Given the description of an element on the screen output the (x, y) to click on. 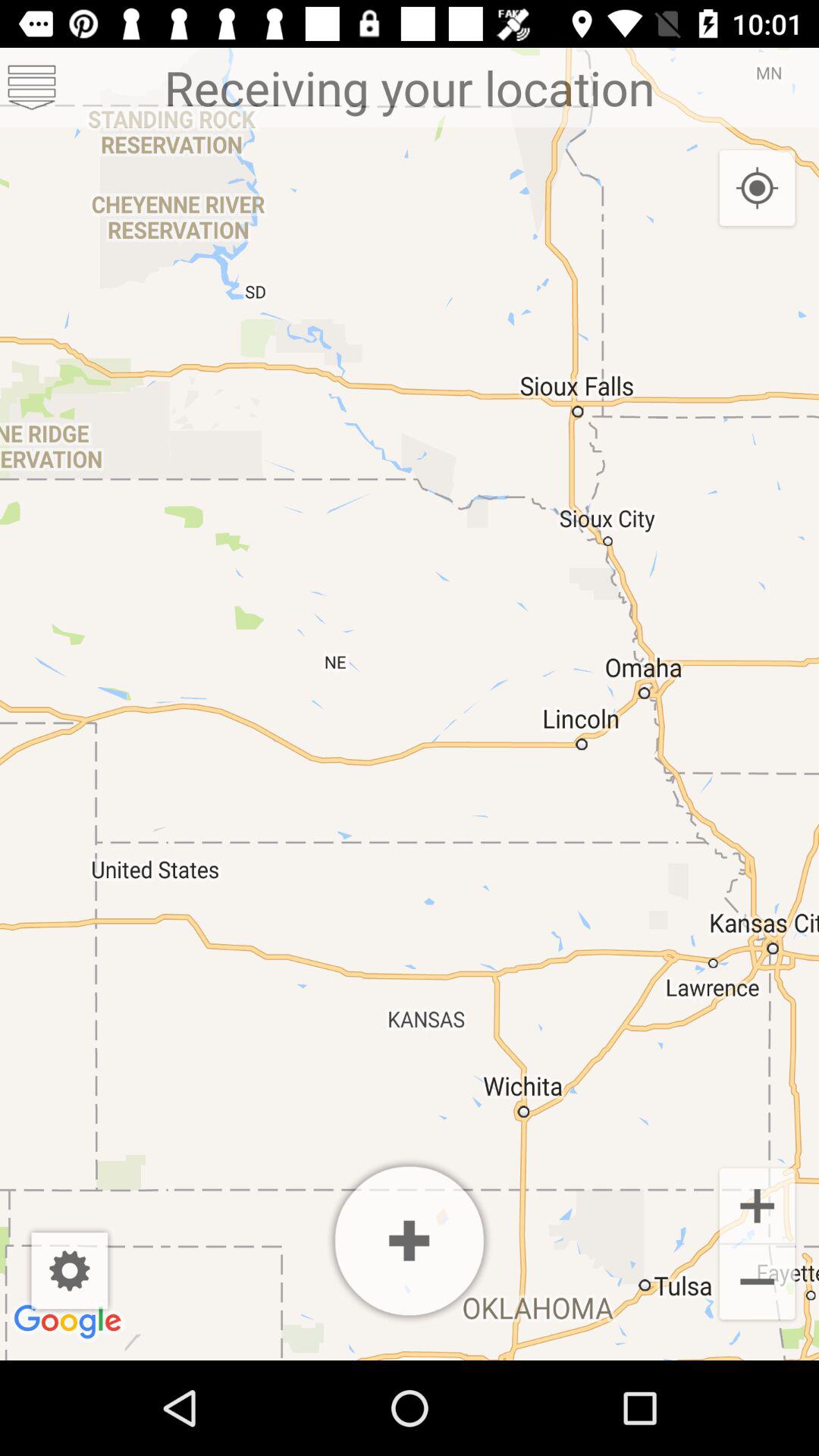
click for settings (69, 1270)
